Given the description of an element on the screen output the (x, y) to click on. 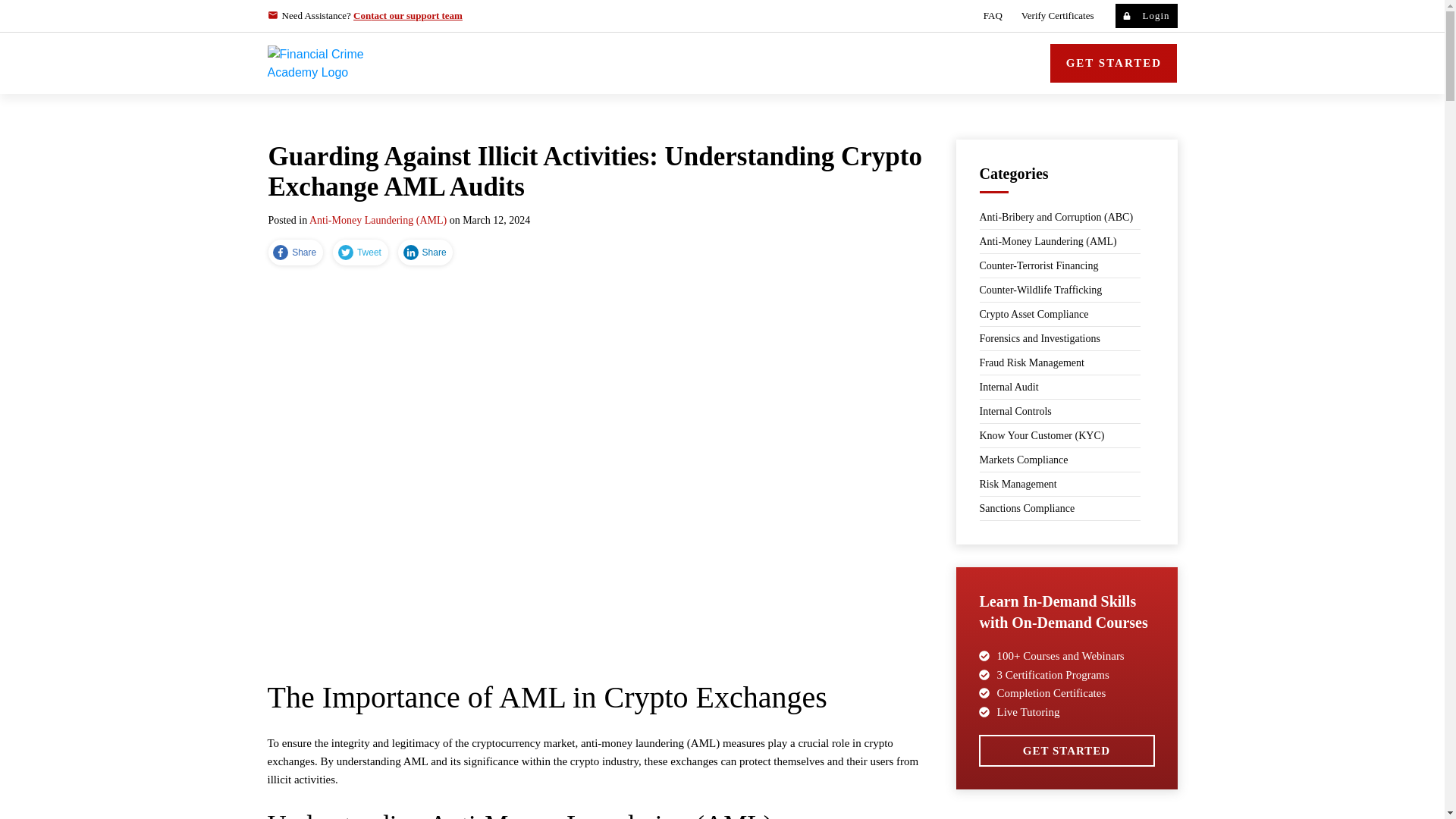
Contact our support team (408, 15)
Login (1145, 15)
Verify Certificates (1058, 15)
FAQ (993, 15)
